Given the description of an element on the screen output the (x, y) to click on. 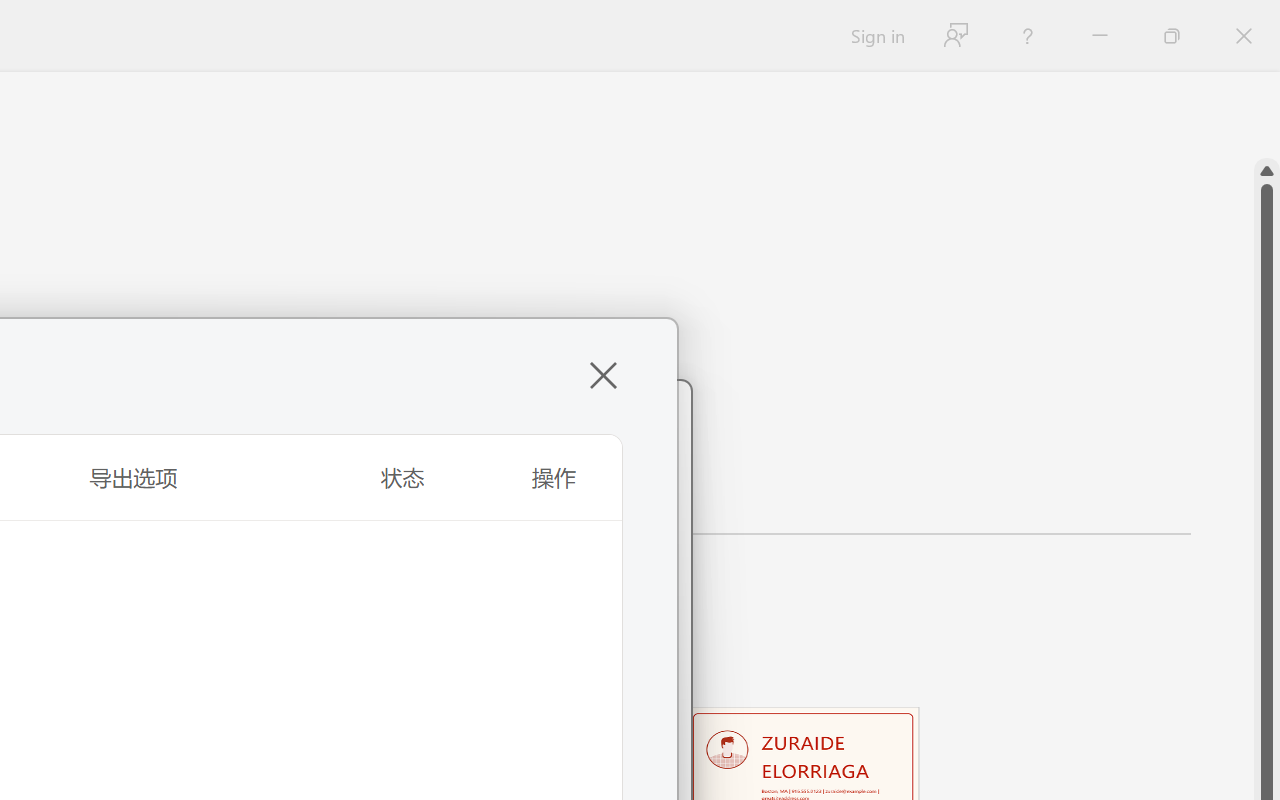
Line up (1267, 171)
